Given the description of an element on the screen output the (x, y) to click on. 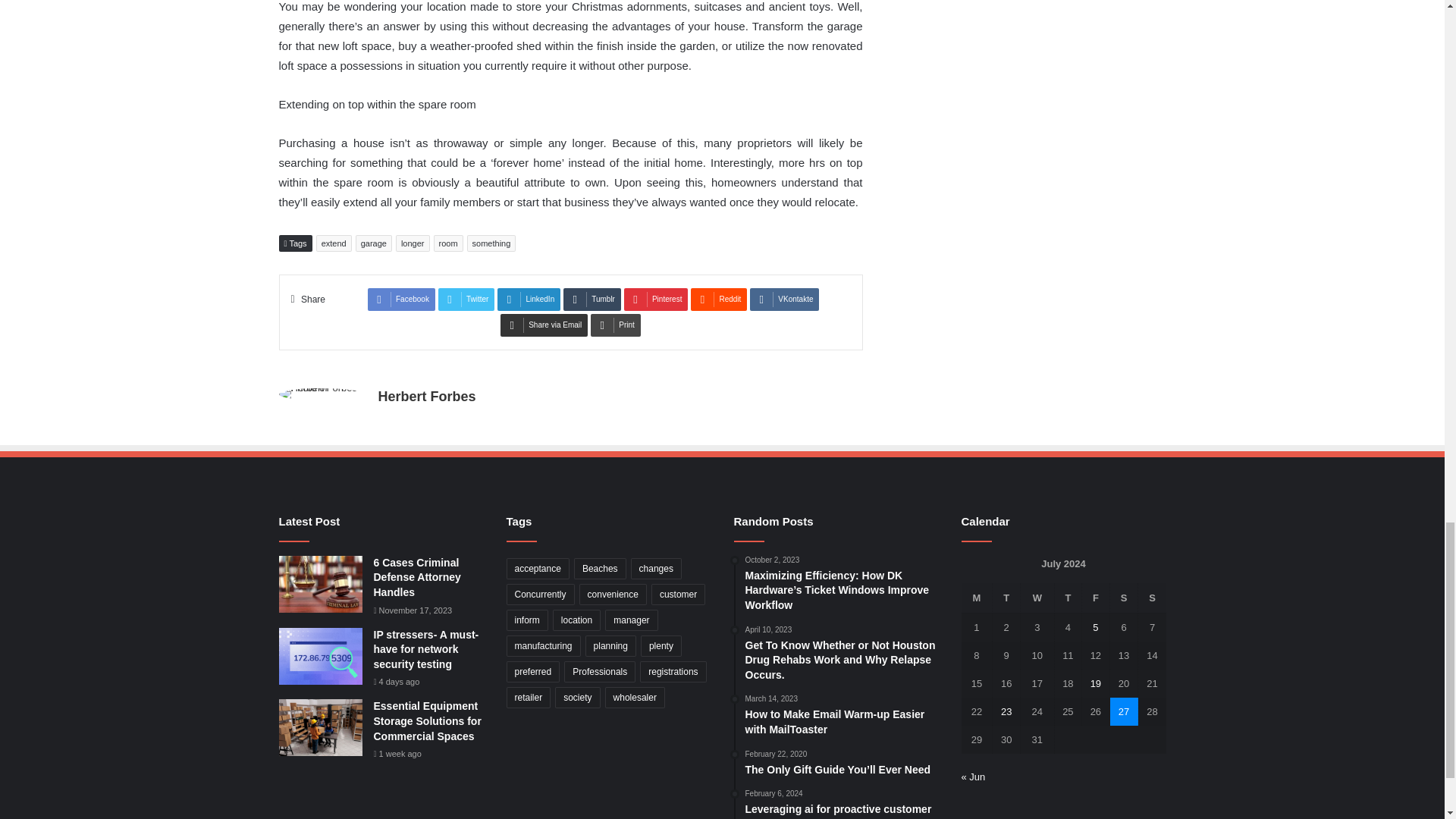
Friday (1095, 598)
Facebook (401, 299)
longer (412, 243)
Monday (976, 598)
Sunday (1152, 598)
Tumblr (592, 299)
Thursday (1068, 598)
Twitter (466, 299)
LinkedIn (528, 299)
garage (373, 243)
extend (333, 243)
room (448, 243)
Pinterest (655, 299)
Wednesday (1037, 598)
something (491, 243)
